Given the description of an element on the screen output the (x, y) to click on. 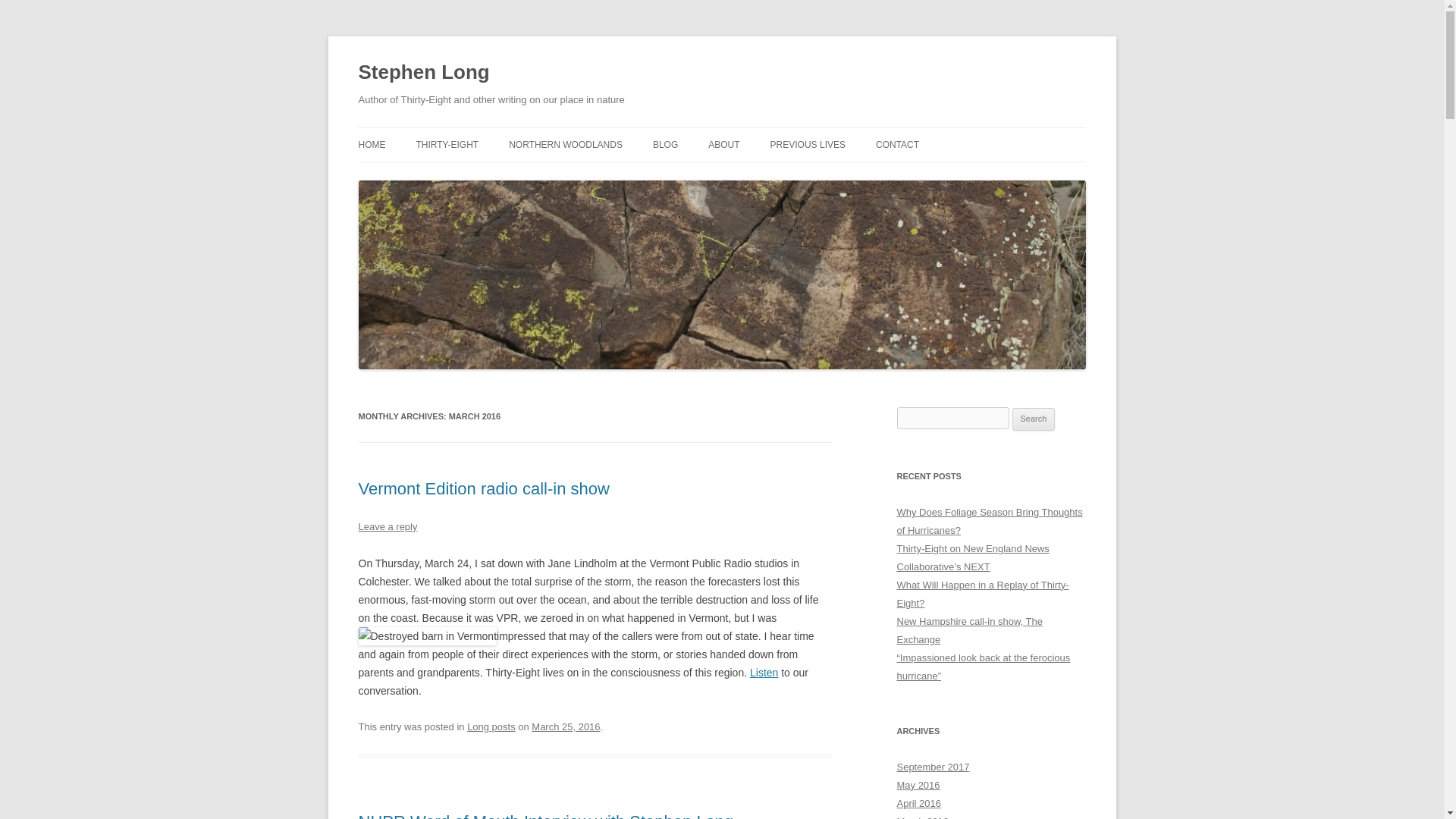
Stephen Long (423, 72)
Vermont Edition radio call-in show (483, 488)
THIRTY-EIGHT (446, 144)
PLAYWRIGHT: WILLIS AND SONS (845, 176)
Stephen Long (423, 72)
Leave a reply (387, 526)
NORTHERN WOODLANDS (565, 144)
HOME (371, 144)
Long posts (491, 726)
Listen (763, 672)
March 25, 2016 (565, 726)
9:45 am (565, 726)
CONTACT (897, 144)
BLOG (665, 144)
Search (1033, 418)
